Given the description of an element on the screen output the (x, y) to click on. 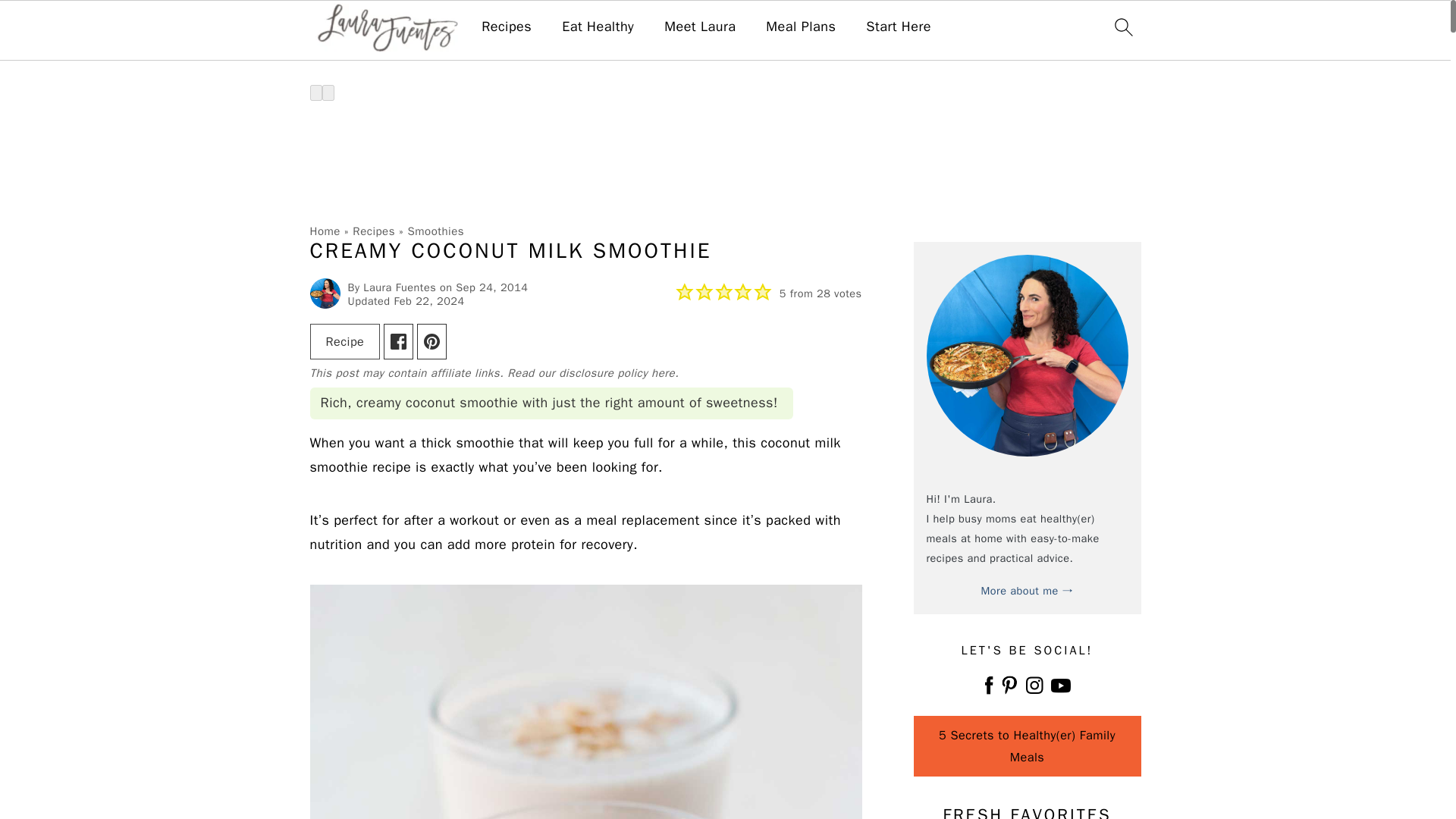
Recipe (344, 341)
search icon (1122, 26)
Home (323, 231)
disclosure policy here (617, 373)
Start Here (898, 27)
Meet Laura (699, 27)
Recipes (506, 27)
Eat Healthy (597, 27)
Recipes (373, 231)
